Given the description of an element on the screen output the (x, y) to click on. 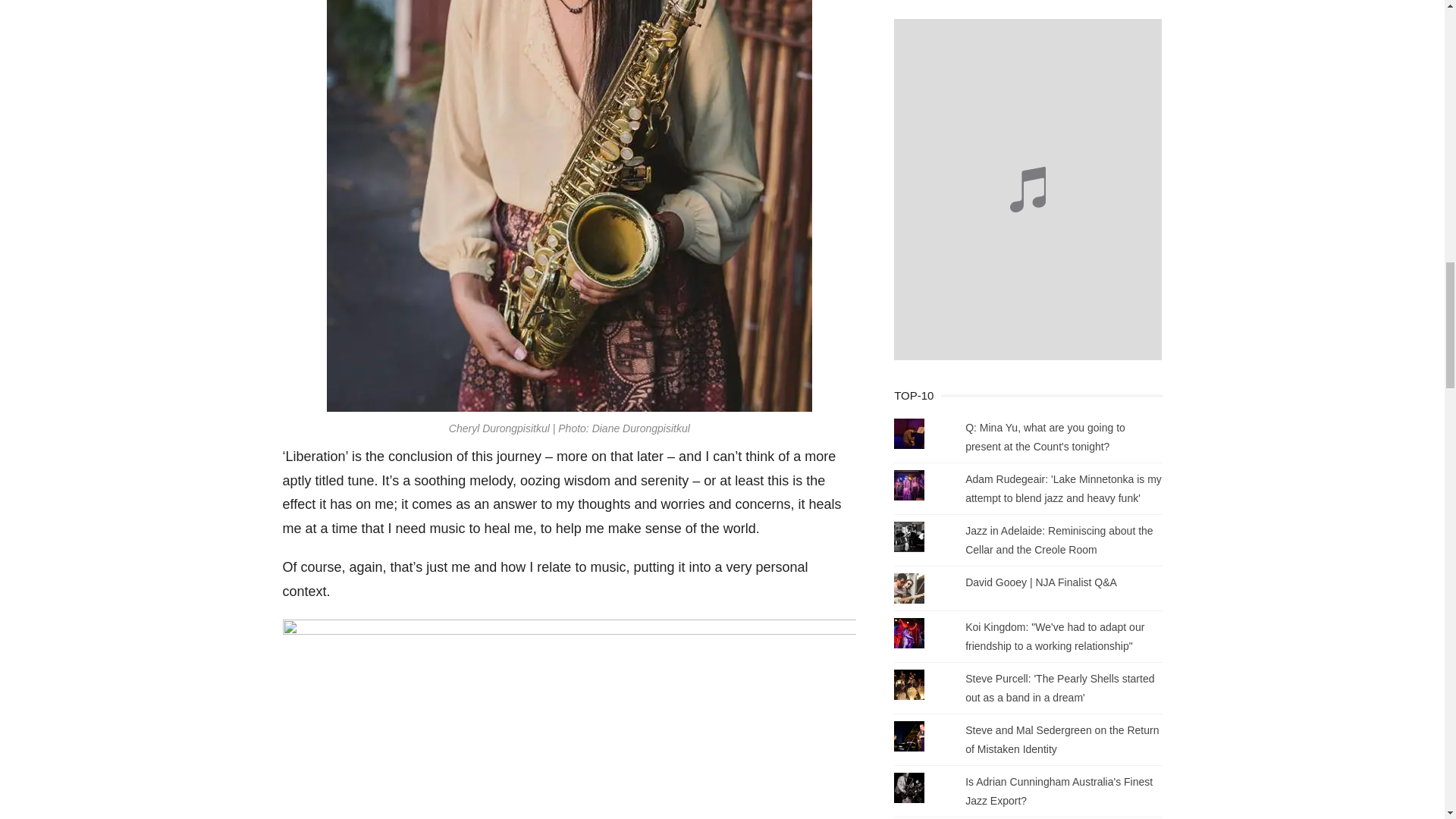
Steve and Mal Sedergreen on the Return of Mistaken Identity (1061, 739)
